Given the description of an element on the screen output the (x, y) to click on. 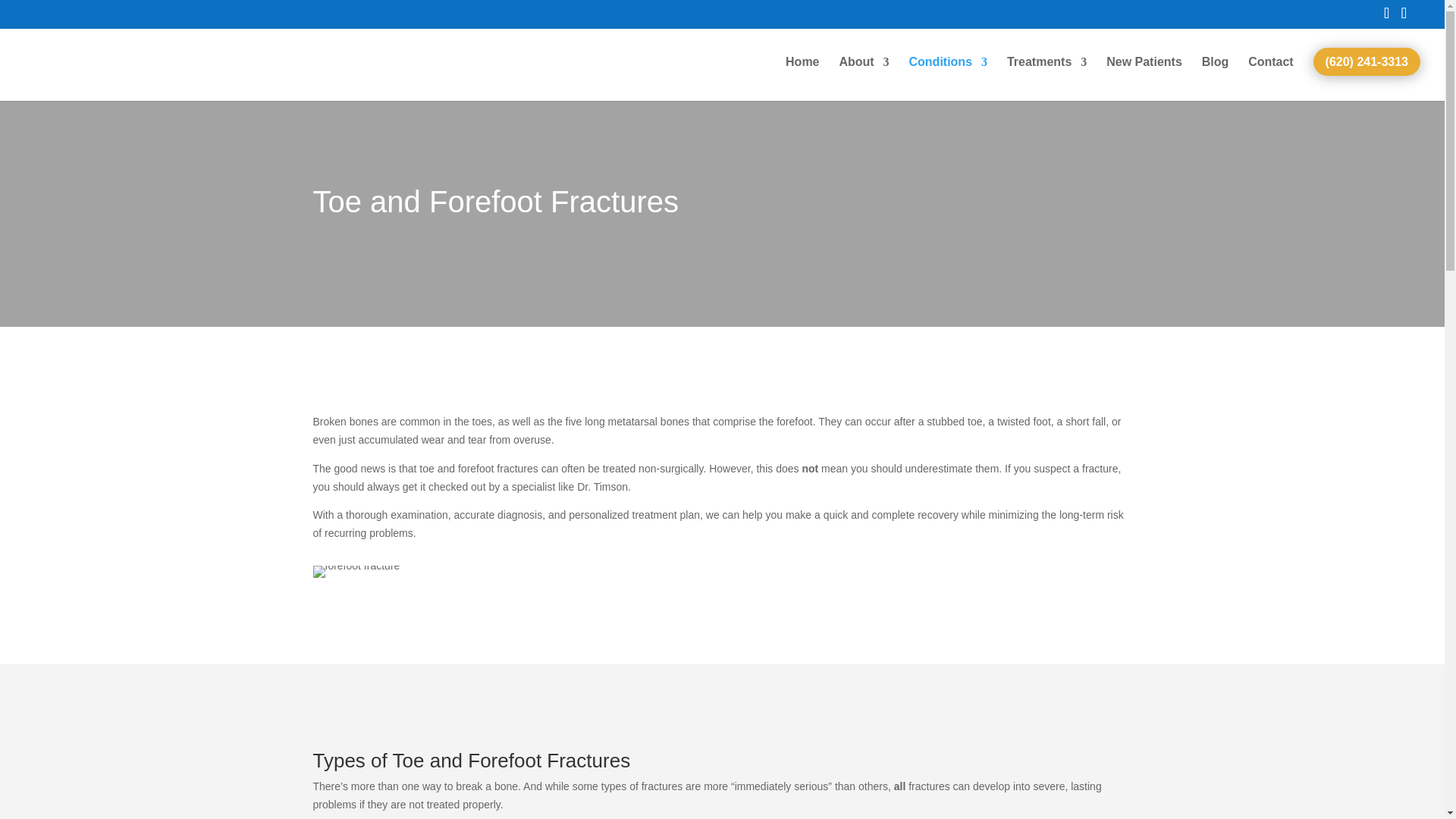
Home (802, 74)
Forefoot fracture (355, 571)
Contact (1270, 74)
New Patients (1144, 74)
Conditions (947, 74)
Treatments (1046, 74)
About (863, 74)
Blog (1215, 74)
